Given the description of an element on the screen output the (x, y) to click on. 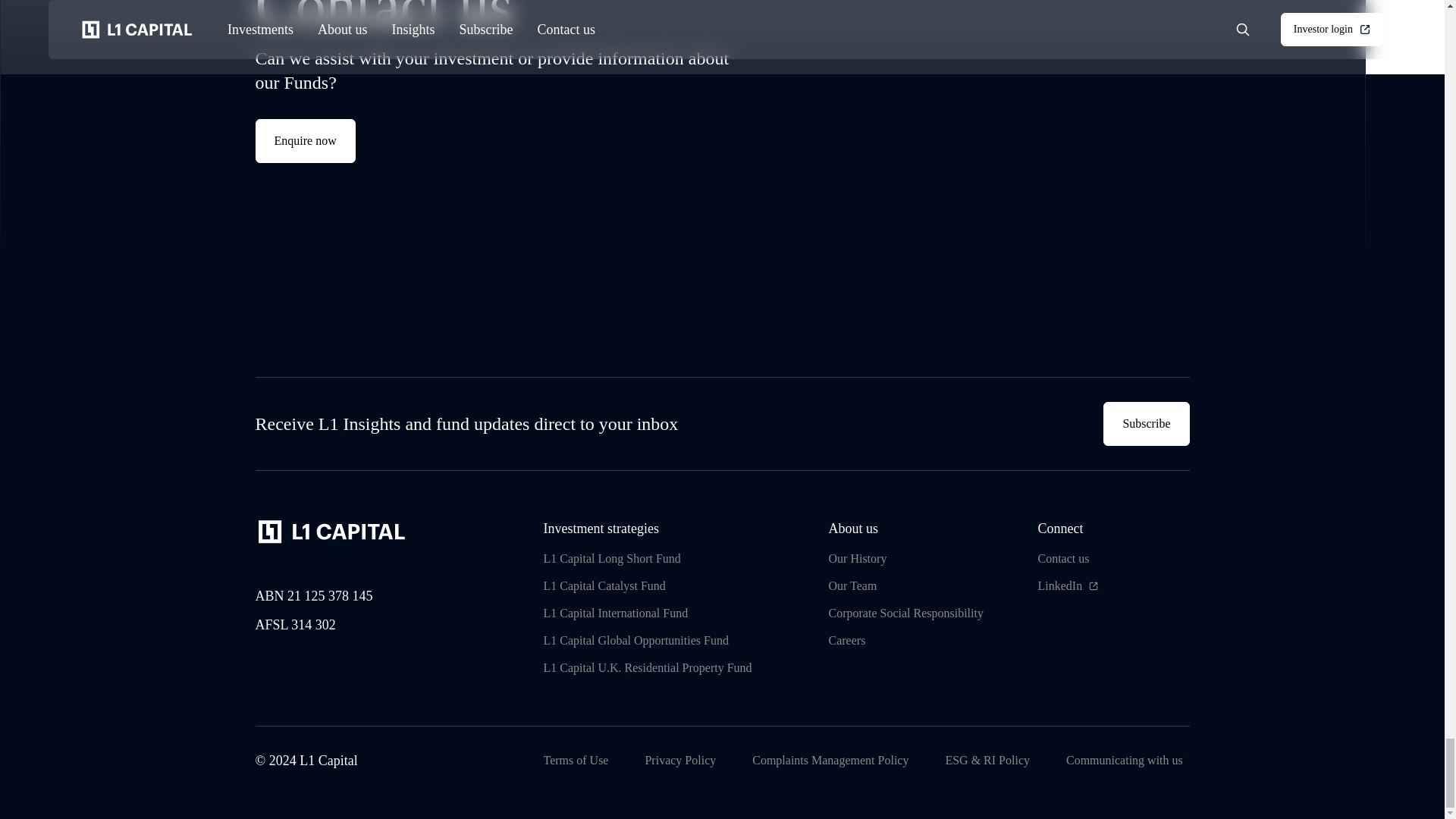
Our History (857, 558)
Subscribe (1146, 423)
Careers (846, 640)
Terms of Use (575, 760)
Complaints Management Policy (830, 760)
Our Team (852, 586)
LinkedIn (1058, 586)
Home (331, 531)
L1 Capital U.K. Residential Property Fund (647, 668)
Corporate Social Responsibility (905, 613)
Contact us (1062, 558)
Privacy Policy (304, 140)
L1 Capital Global Opportunities Fund (680, 760)
L1 Capital International Fund (635, 640)
